Given the description of an element on the screen output the (x, y) to click on. 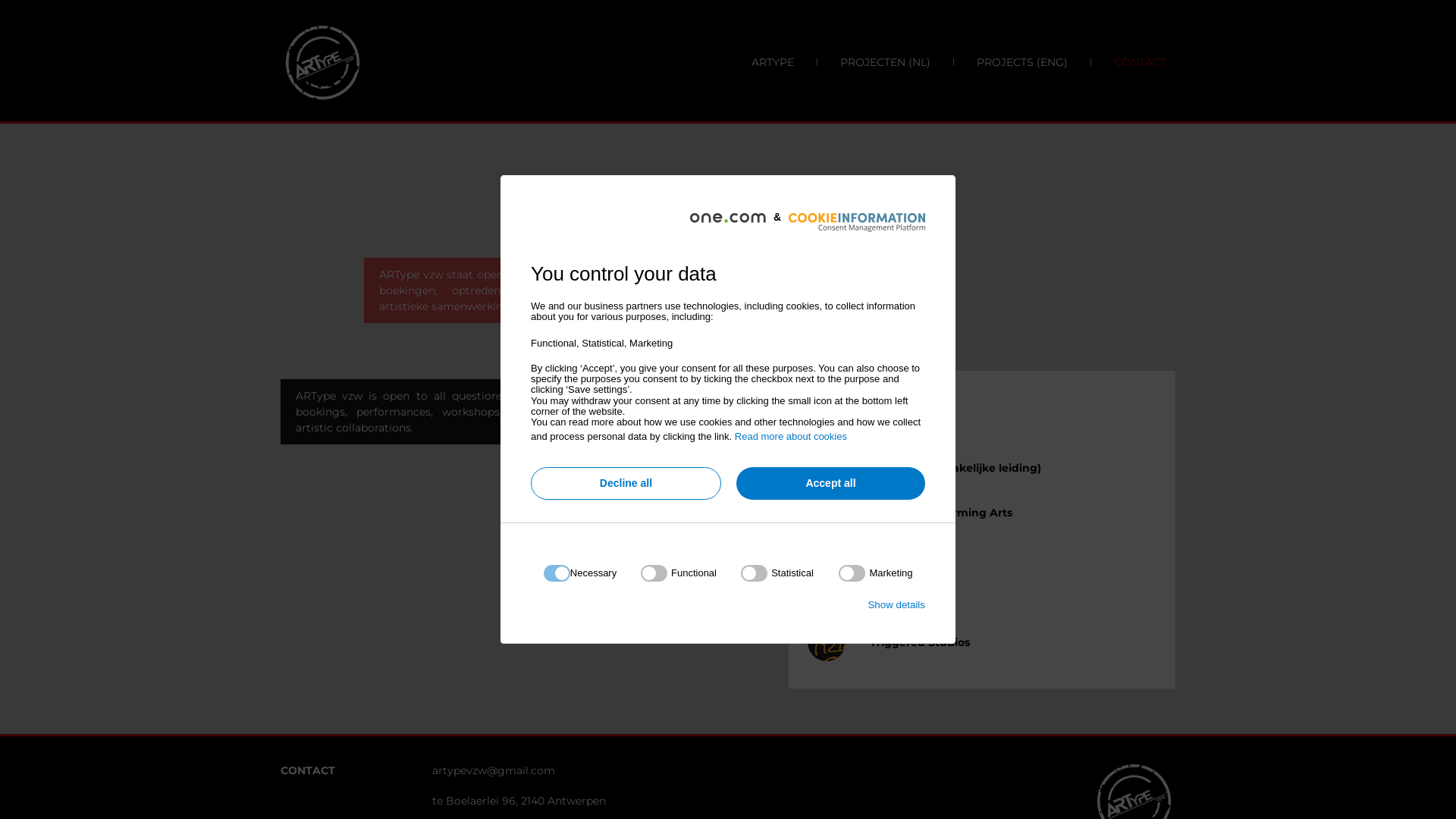
Decline all Element type: text (625, 483)
Silence Radio Element type: text (906, 579)
PROJECTEN (NL) Element type: text (873, 61)
Read more about cookies Element type: text (790, 436)
CONTACT Element type: text (1129, 61)
on Element type: text (678, 572)
Necessary Element type: text (723, 658)
ARTYPE Element type: text (761, 61)
te Boelaerlei 96, 2140 Antwerpen Element type: text (875, 238)
on Element type: text (776, 572)
Accept all Element type: text (830, 483)
Triggered Studios Element type: text (919, 642)
on Element type: text (875, 572)
PROJECTS (ENG) Element type: text (1010, 61)
Un-Label Performing Arts Company Element type: text (940, 520)
  Element type: text (496, 175)
Max Greyson Element type: text (905, 451)
artypevzw@gmail.com Element type: text (879, 187)
Functional Element type: text (723, 748)
artypevzw@gmail.com Element type: text (493, 770)
te Boelaerlei 96, 2140 Antwerpen Element type: text (518, 800)
Show details Element type: text (896, 604)
